Given the description of an element on the screen output the (x, y) to click on. 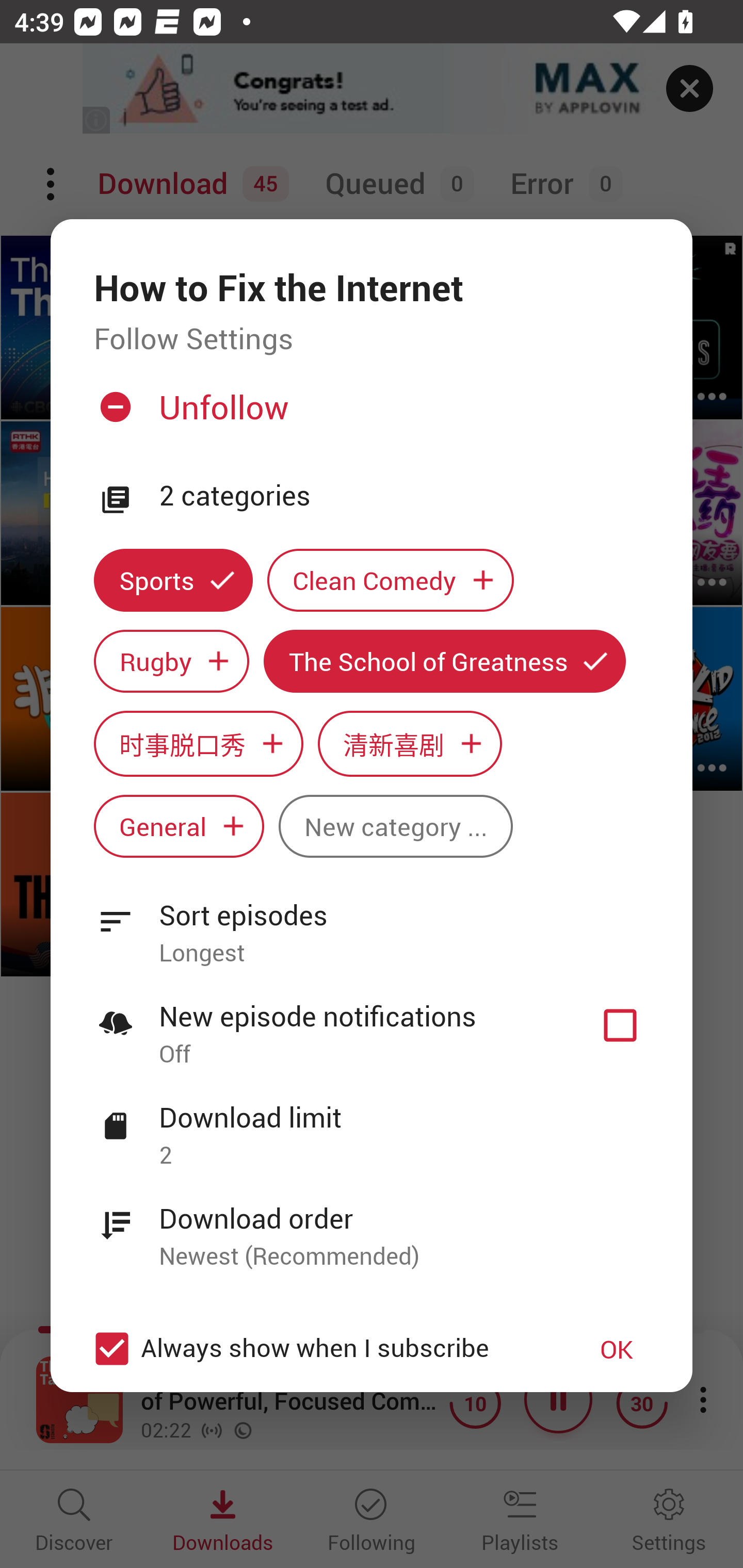
Unfollow (369, 415)
2 categories (404, 495)
Sports (172, 579)
Clean Comedy (390, 579)
Rugby (170, 661)
The School of Greatness (444, 661)
时事脱口秀 (198, 743)
清新喜剧 (410, 743)
General (178, 825)
New category ... (395, 825)
Sort episodes Longest (371, 922)
New episode notifications (620, 1025)
Download limit 2 (371, 1125)
Download order Newest (Recommended) (371, 1226)
OK (616, 1349)
Always show when I subscribe (320, 1349)
